Given the description of an element on the screen output the (x, y) to click on. 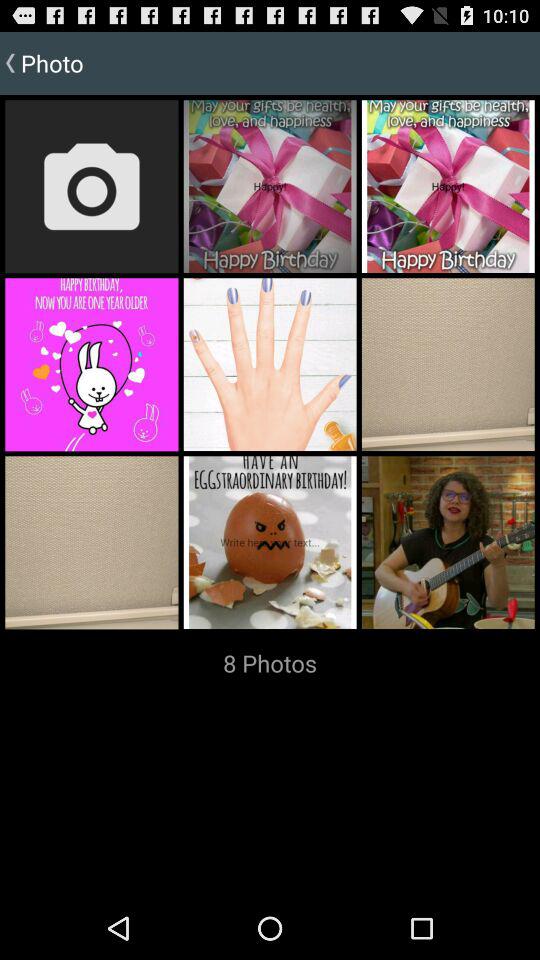
jump to 8 photos item (269, 663)
